Given the description of an element on the screen output the (x, y) to click on. 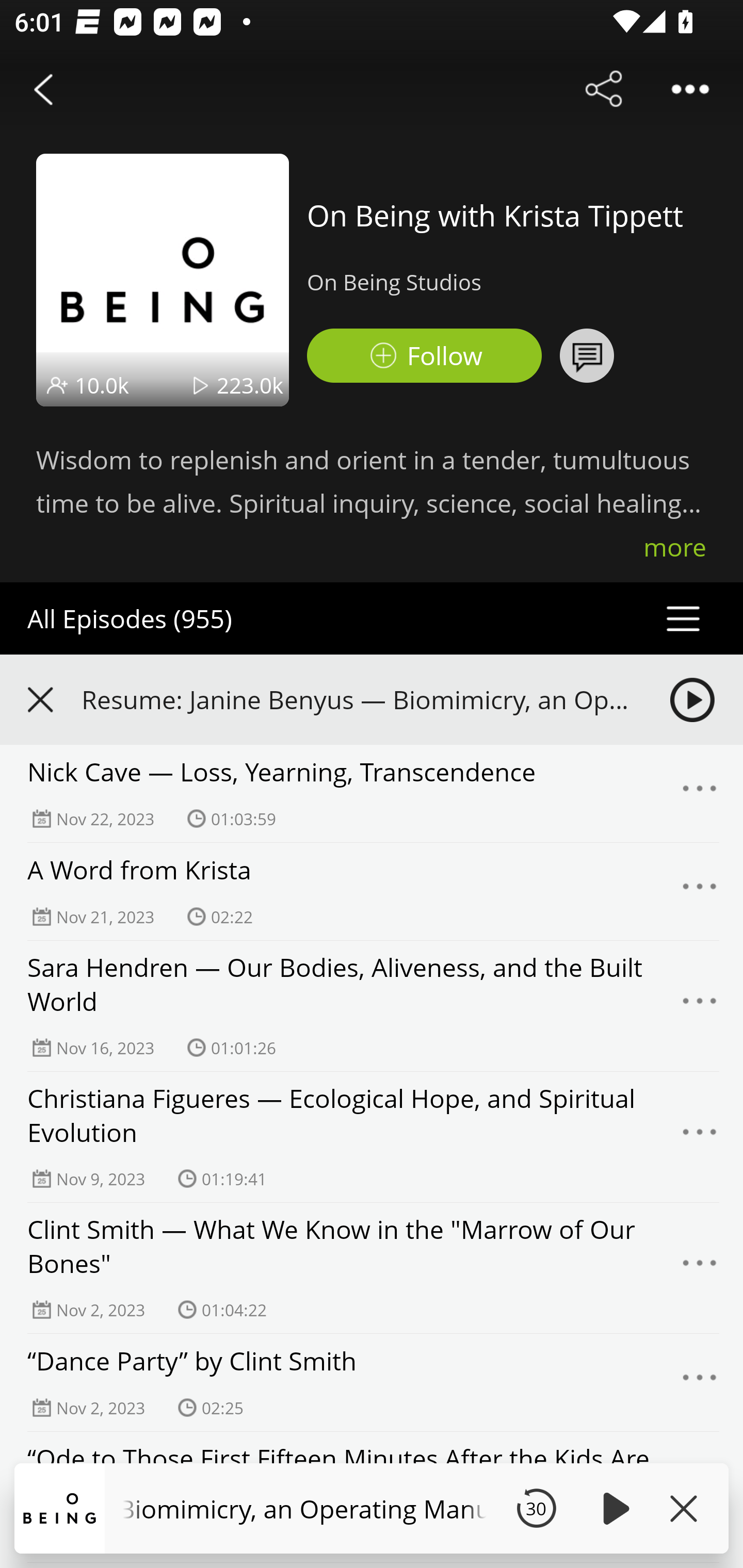
Back (43, 88)
Podbean Follow (423, 355)
10.0k (102, 384)
more (674, 546)
Menu (699, 794)
A Word from Krista Nov 21, 2023 02:22 Menu (371, 891)
Menu (699, 891)
Menu (699, 1005)
Menu (699, 1137)
Menu (699, 1268)
Menu (699, 1382)
Play (613, 1507)
30 Seek Backward (536, 1508)
